Given the description of an element on the screen output the (x, y) to click on. 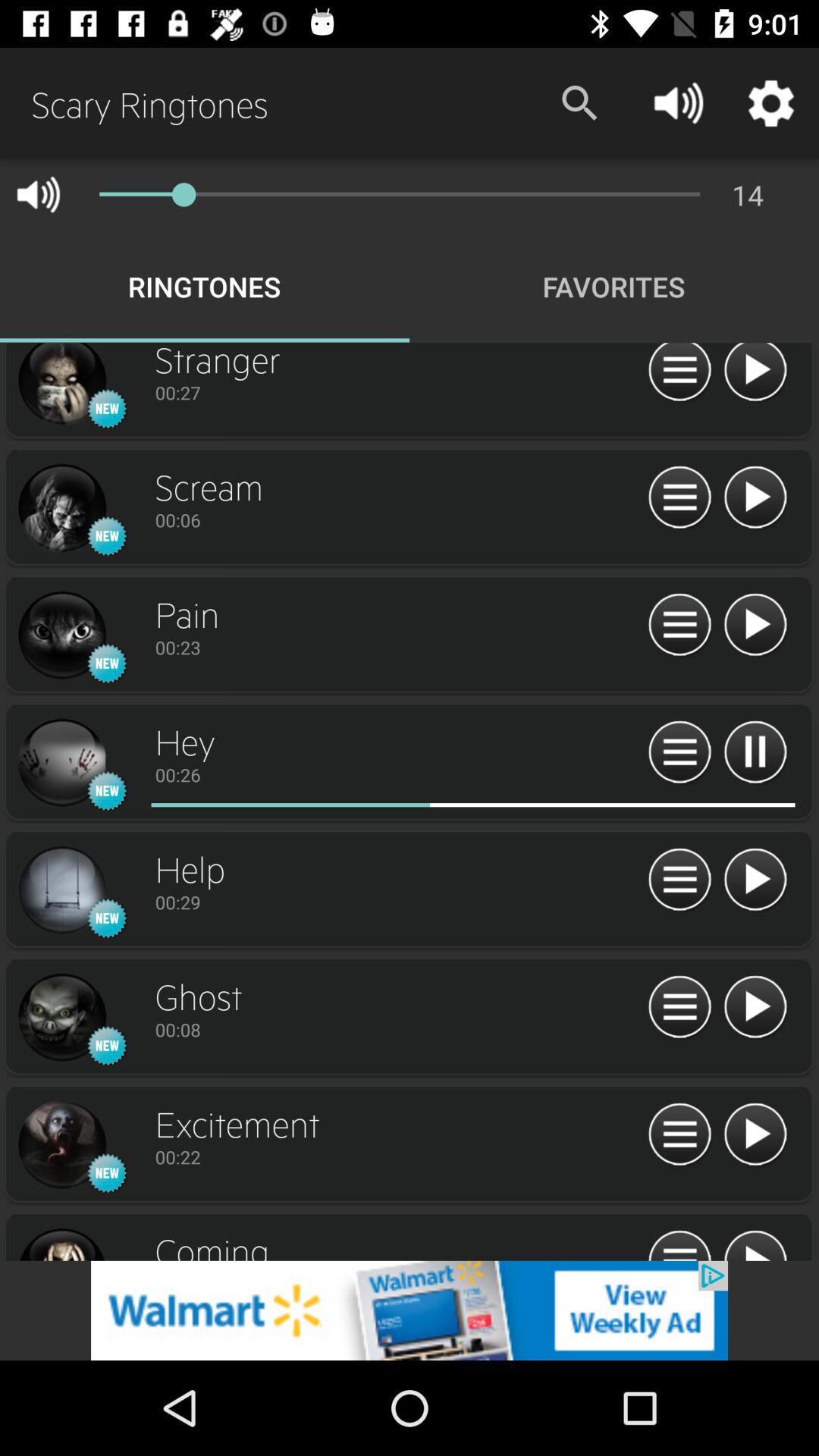
advertisement (409, 1310)
